Given the description of an element on the screen output the (x, y) to click on. 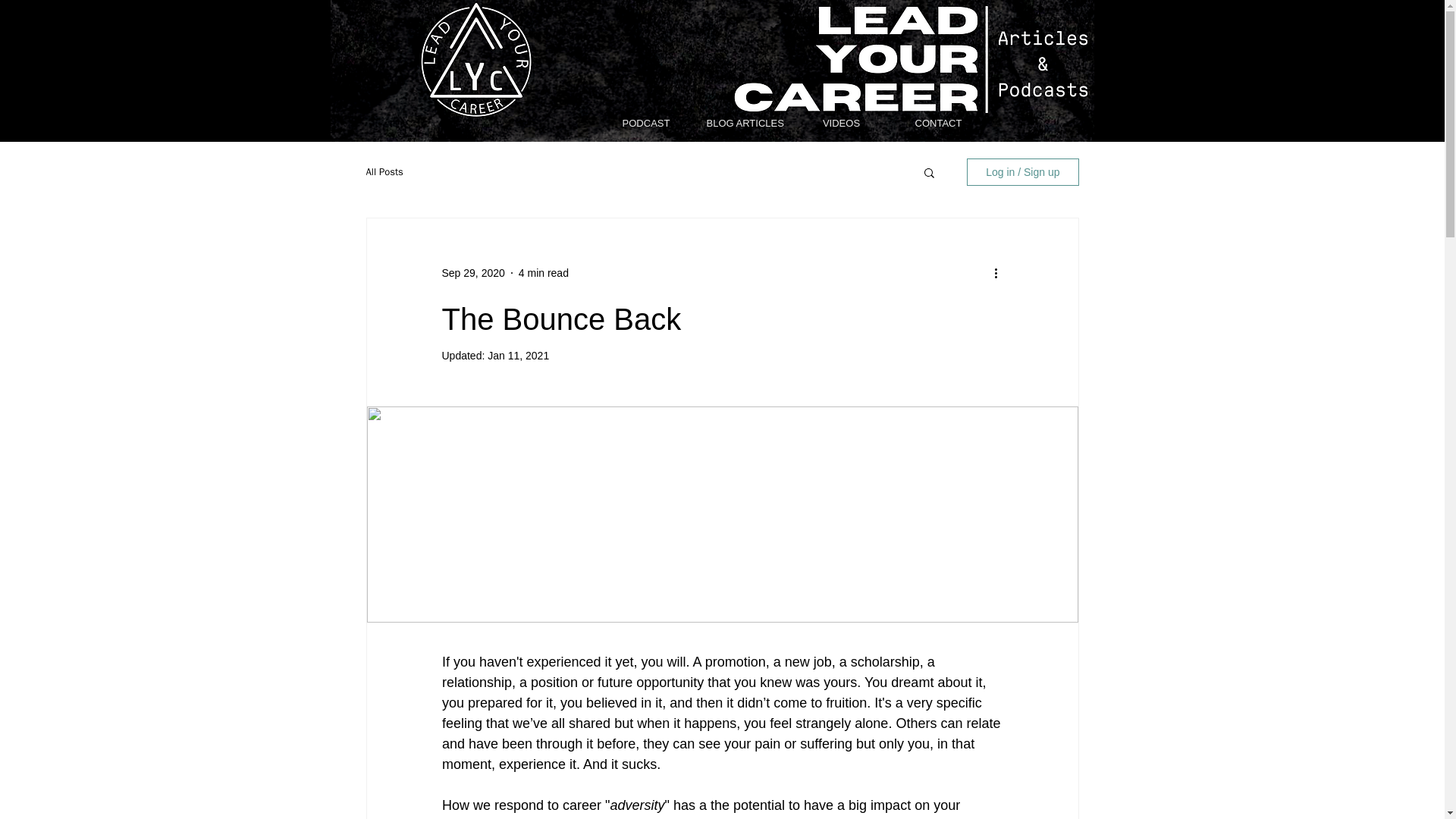
All Posts (384, 172)
Sep 29, 2020 (472, 272)
VIDEOS (841, 123)
CONTACT (938, 123)
4 min read (543, 272)
Jan 11, 2021 (517, 355)
BLOG ARTICLES (743, 123)
PODCAST (645, 123)
